Given the description of an element on the screen output the (x, y) to click on. 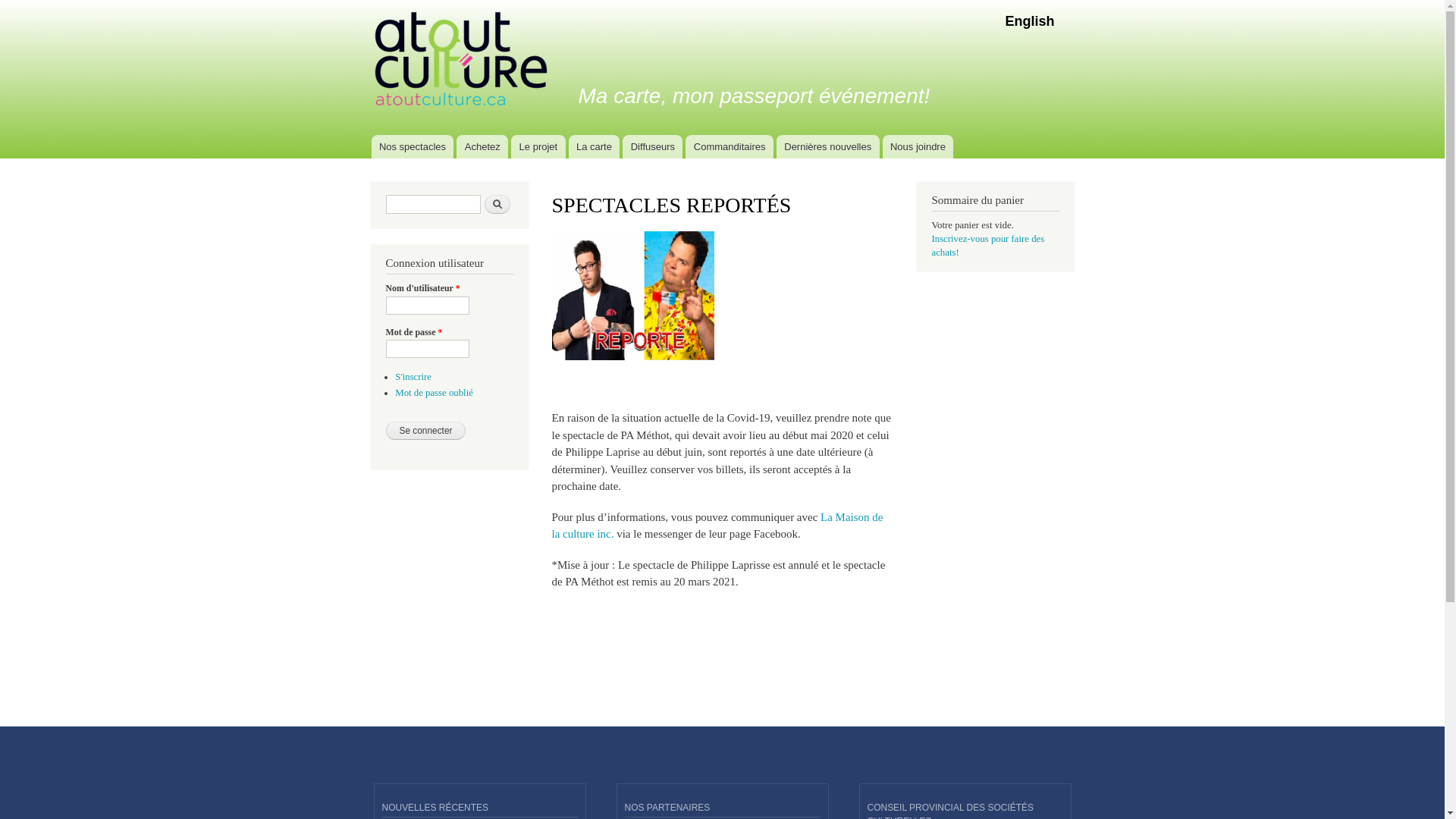
La carte Element type: text (594, 146)
Aller au contenu principal Element type: text (692, 1)
Se connecter Element type: text (425, 430)
Recherche Element type: text (497, 203)
La Maison de la culture inc. Element type: text (717, 525)
Le projet Element type: text (537, 146)
Diffuseurs Element type: text (652, 146)
Accueil Element type: hover (461, 61)
Nos spectacles Element type: text (412, 146)
atout culture Element type: text (630, 34)
Commanditaires Element type: text (728, 146)
Inscrivez-vous pour faire des achats! Element type: text (987, 245)
Nous joindre Element type: text (917, 146)
S'inscrire Element type: text (413, 376)
English Element type: text (1029, 20)
Achetez Element type: text (482, 146)
